Given the description of an element on the screen output the (x, y) to click on. 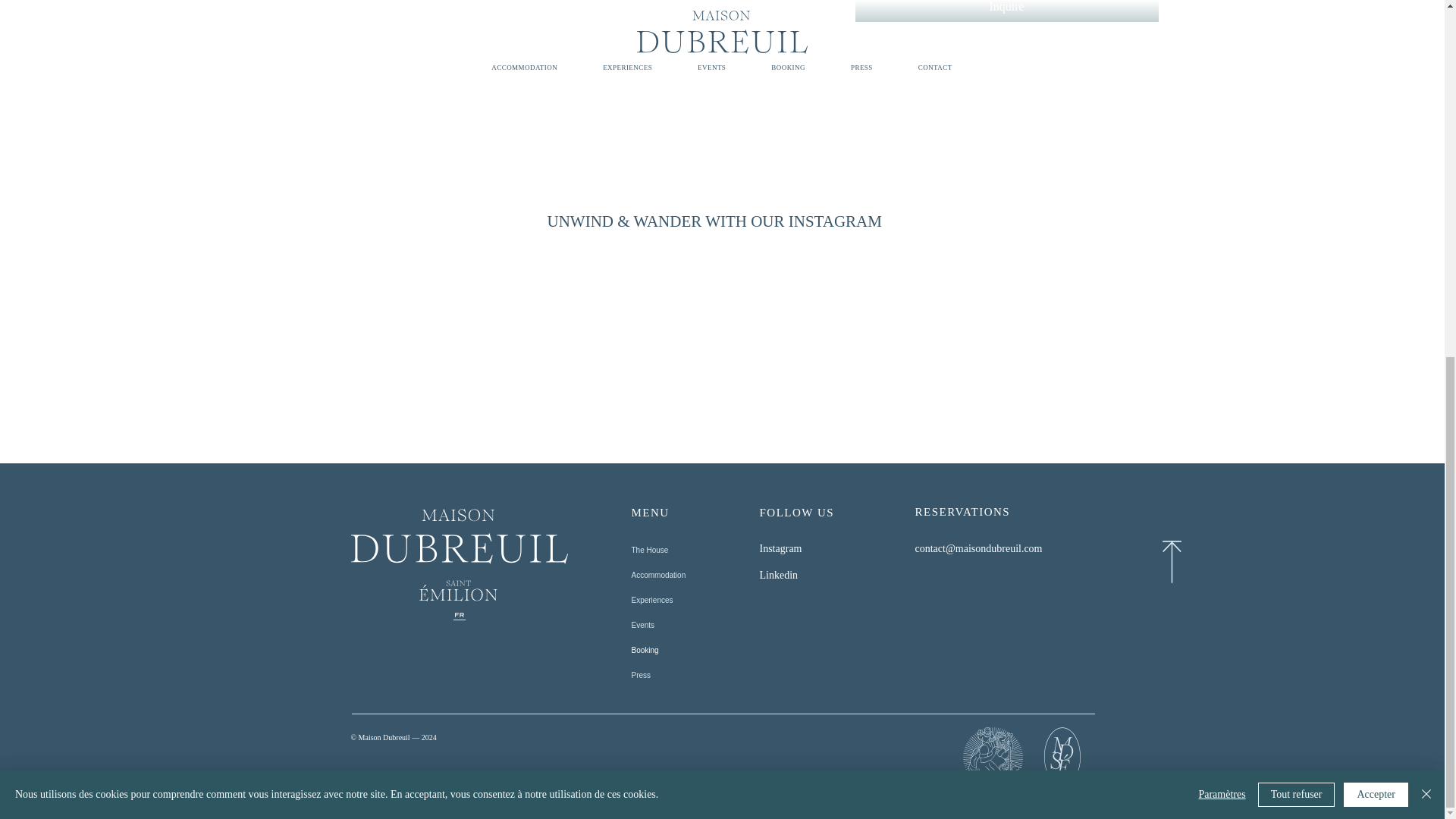
Accepter (1375, 166)
Booking (693, 649)
Experiences (693, 599)
Press (693, 674)
Tout refuser (1296, 166)
Instagram (781, 548)
Events (693, 625)
The House (693, 549)
Accommodation (693, 575)
Inquire (1007, 11)
